Given the description of an element on the screen output the (x, y) to click on. 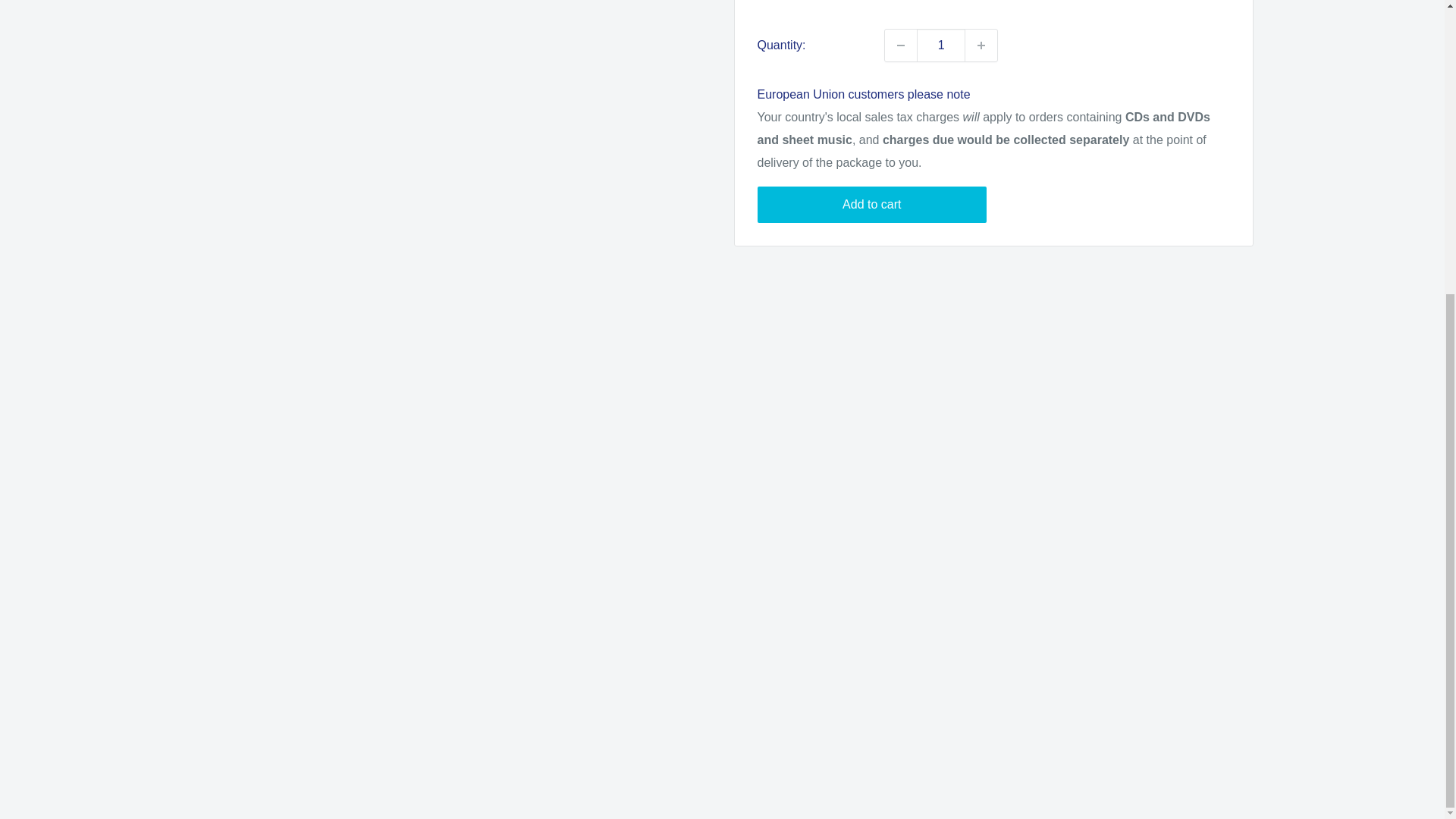
1 (941, 45)
Decrease quantity by 1 (901, 45)
Increase quantity by 1 (981, 45)
